Given the description of an element on the screen output the (x, y) to click on. 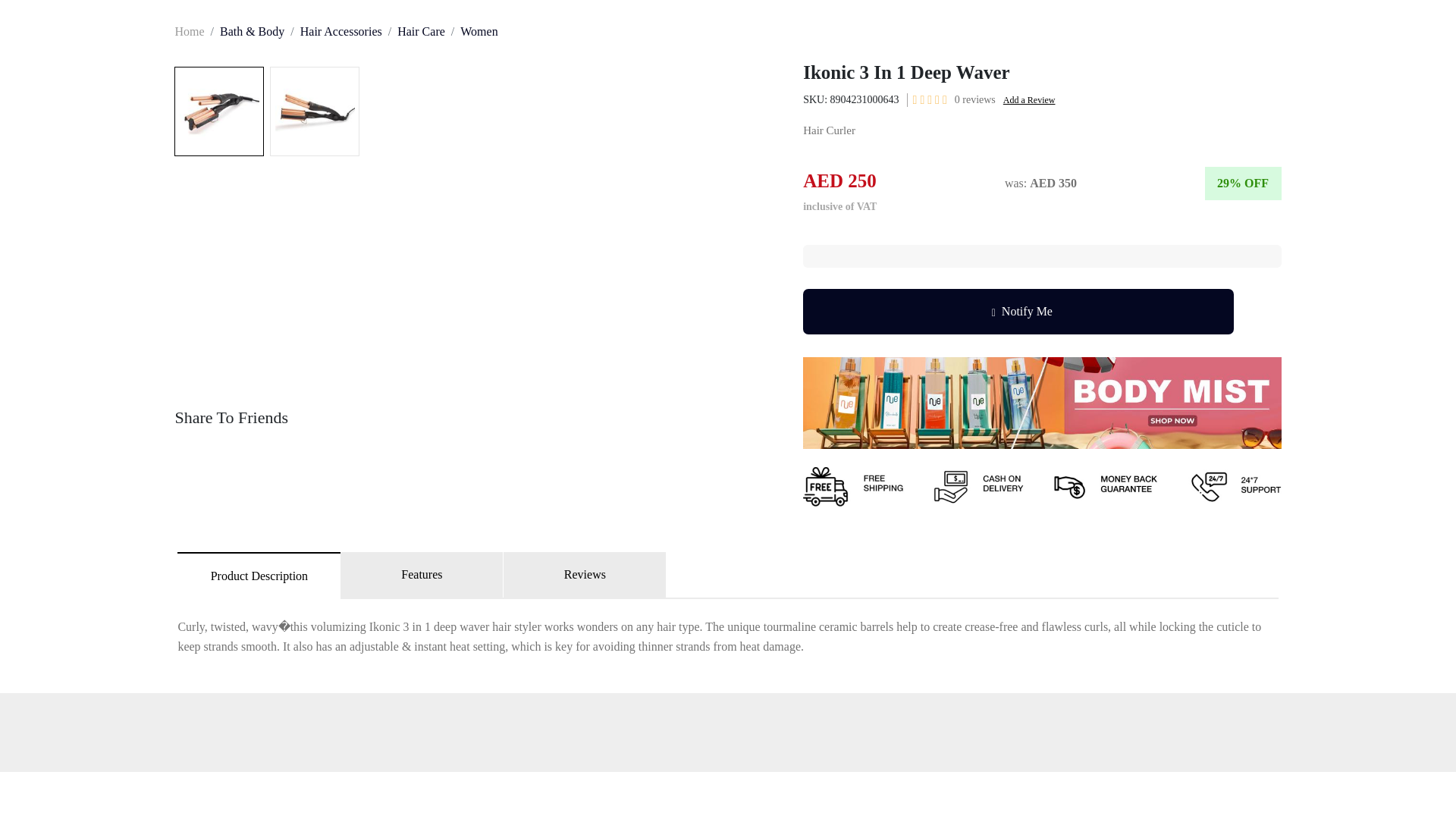
Product Description (258, 575)
Women (478, 31)
Reviews (584, 574)
Hair Care (421, 31)
Features (421, 574)
Hair Accessories (340, 31)
Notify Me (1018, 311)
